Given the description of an element on the screen output the (x, y) to click on. 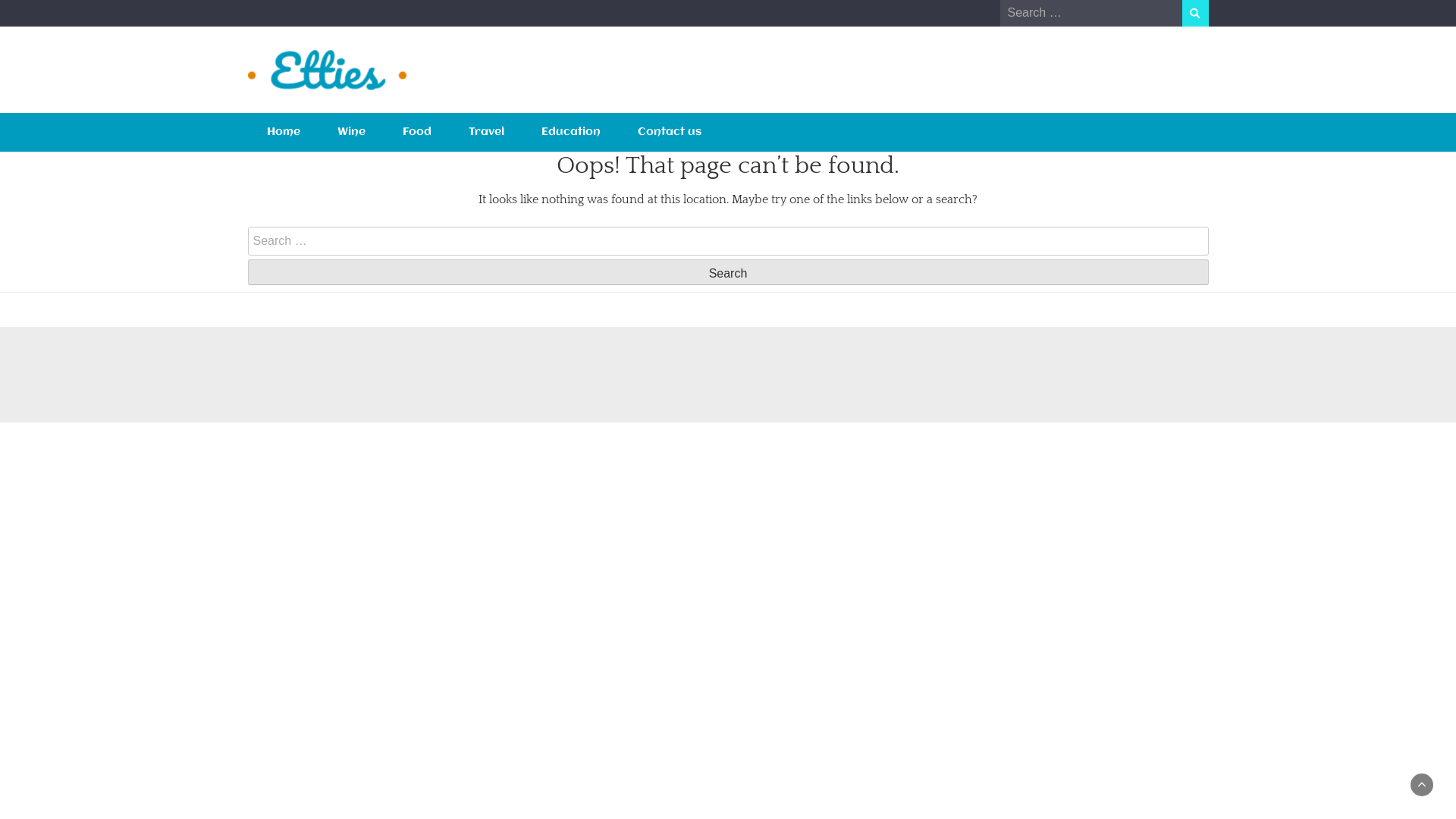
Wine Element type: text (350, 131)
Search for: Element type: hover (1090, 12)
Search for: Element type: hover (727, 240)
Travel Element type: text (486, 131)
Search Element type: text (1194, 13)
Home Element type: text (283, 131)
Contact us Element type: text (668, 131)
Food Element type: text (415, 131)
Search Element type: text (727, 272)
Education Element type: text (570, 131)
